Given the description of an element on the screen output the (x, y) to click on. 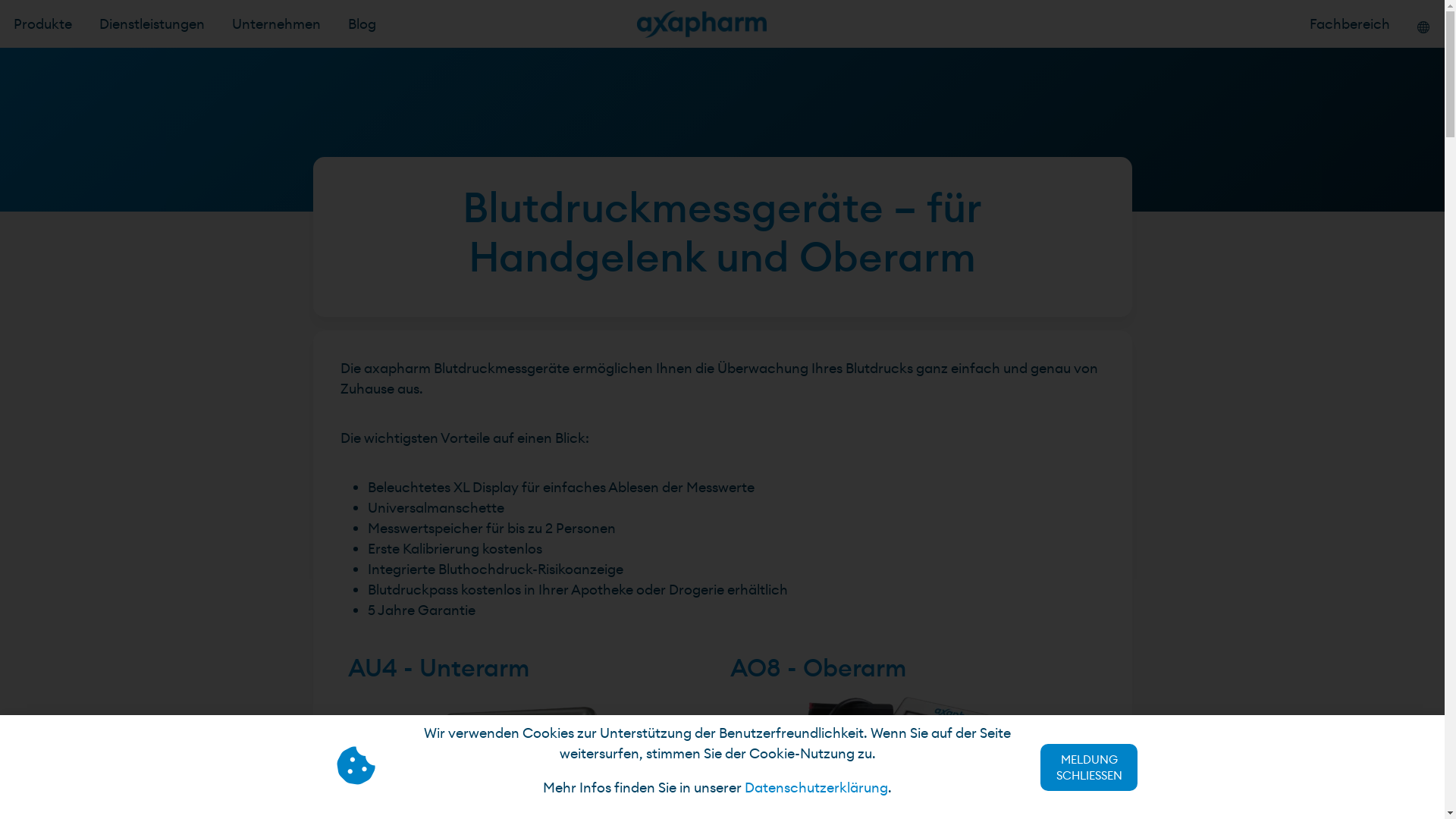
Unternehmen Element type: text (276, 23)
Dienstleistungen Element type: text (151, 23)
Produkte Element type: text (42, 23)
MELDUNG SCHLIESSEN Element type: text (1088, 766)
Blog Element type: text (361, 23)
Fachbereich Element type: text (1349, 23)
